Given the description of an element on the screen output the (x, y) to click on. 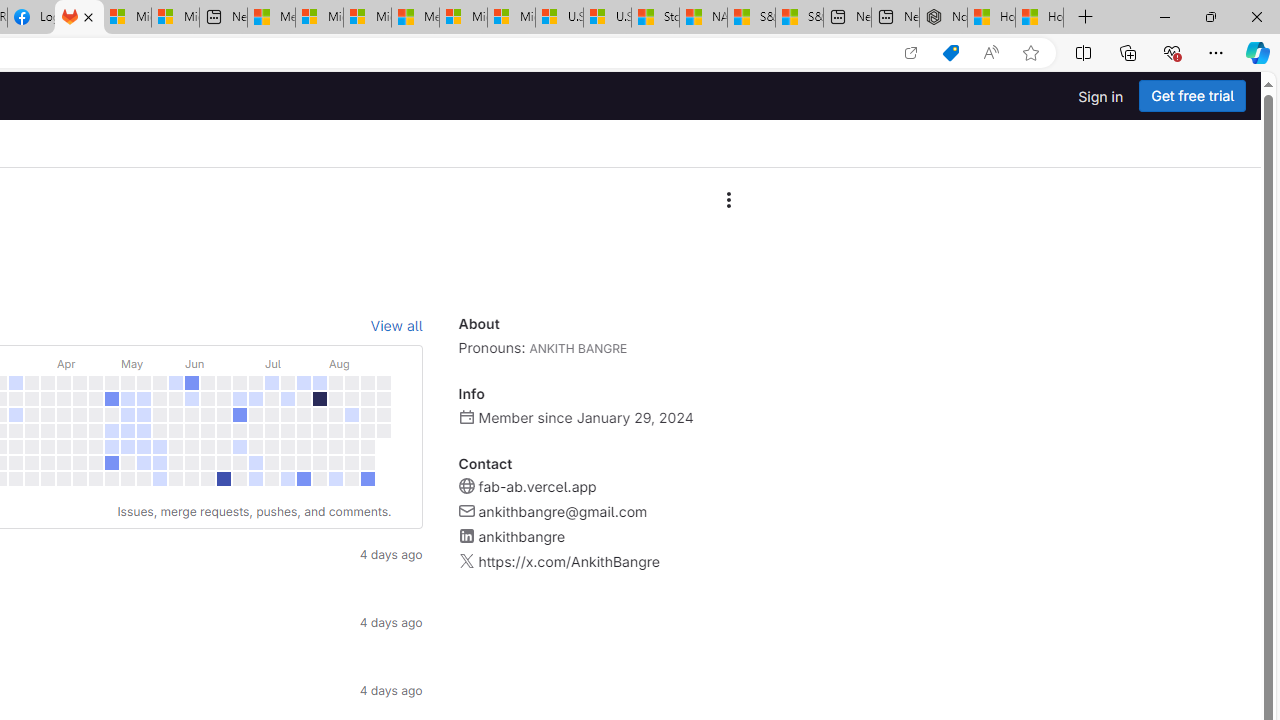
Microsoft account | Home (367, 17)
